Given the description of an element on the screen output the (x, y) to click on. 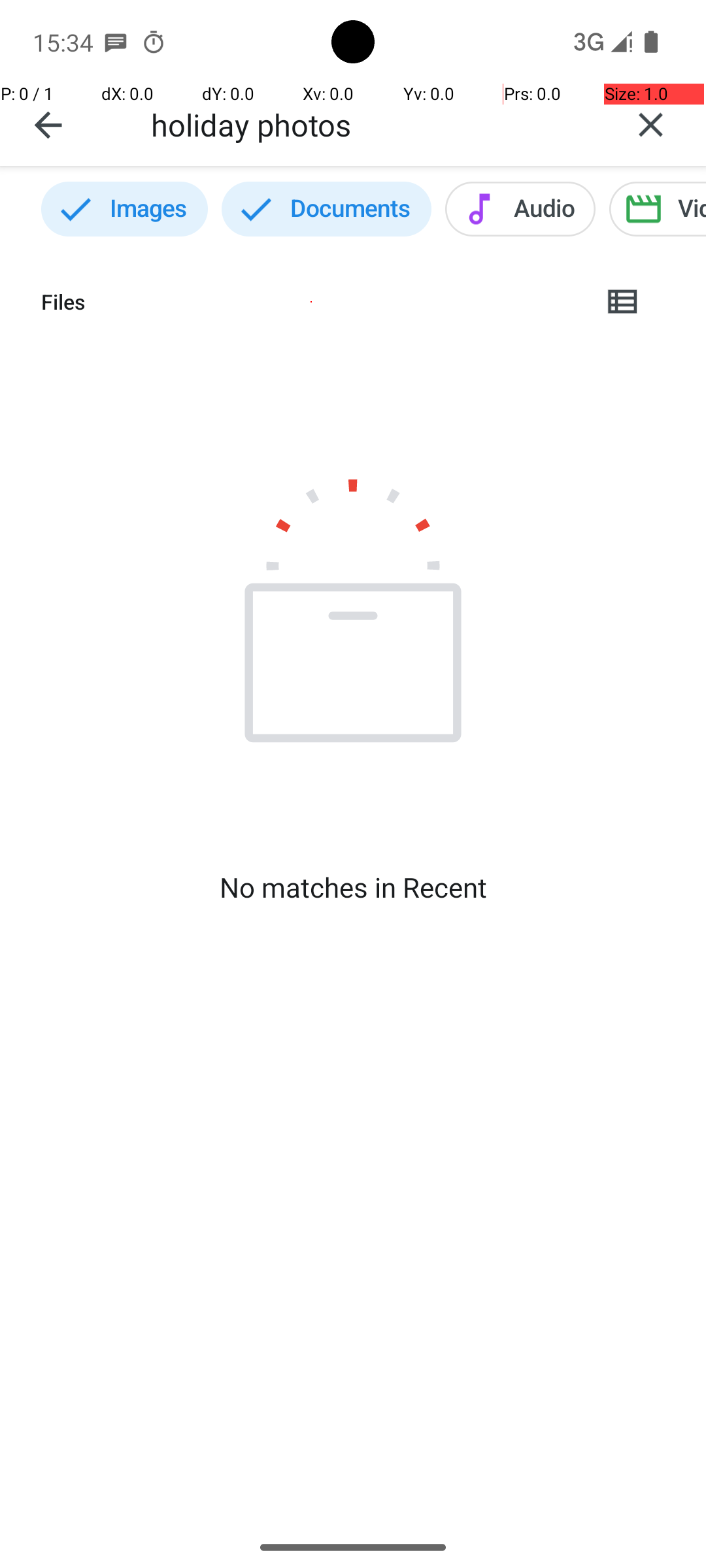
holiday photos Element type: android.widget.AutoCompleteTextView (373, 124)
